Given the description of an element on the screen output the (x, y) to click on. 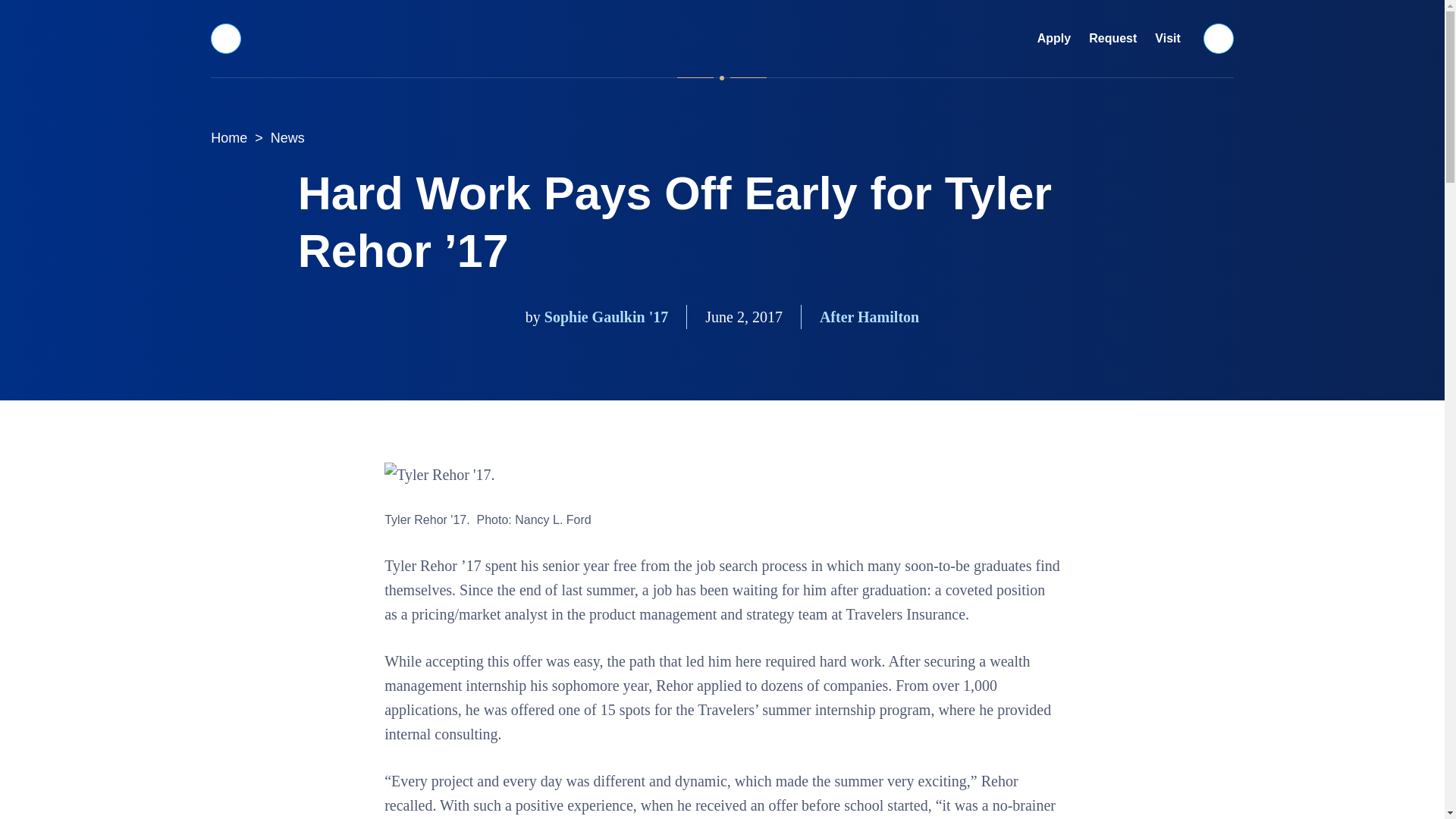
Search (1218, 38)
Home (228, 138)
Menu (225, 38)
News (288, 138)
Hamilton (721, 38)
Visit (1167, 38)
Request (1112, 38)
Apply (1053, 38)
After Hamilton (868, 316)
Sophie Gaulkin '17 (606, 316)
